Given the description of an element on the screen output the (x, y) to click on. 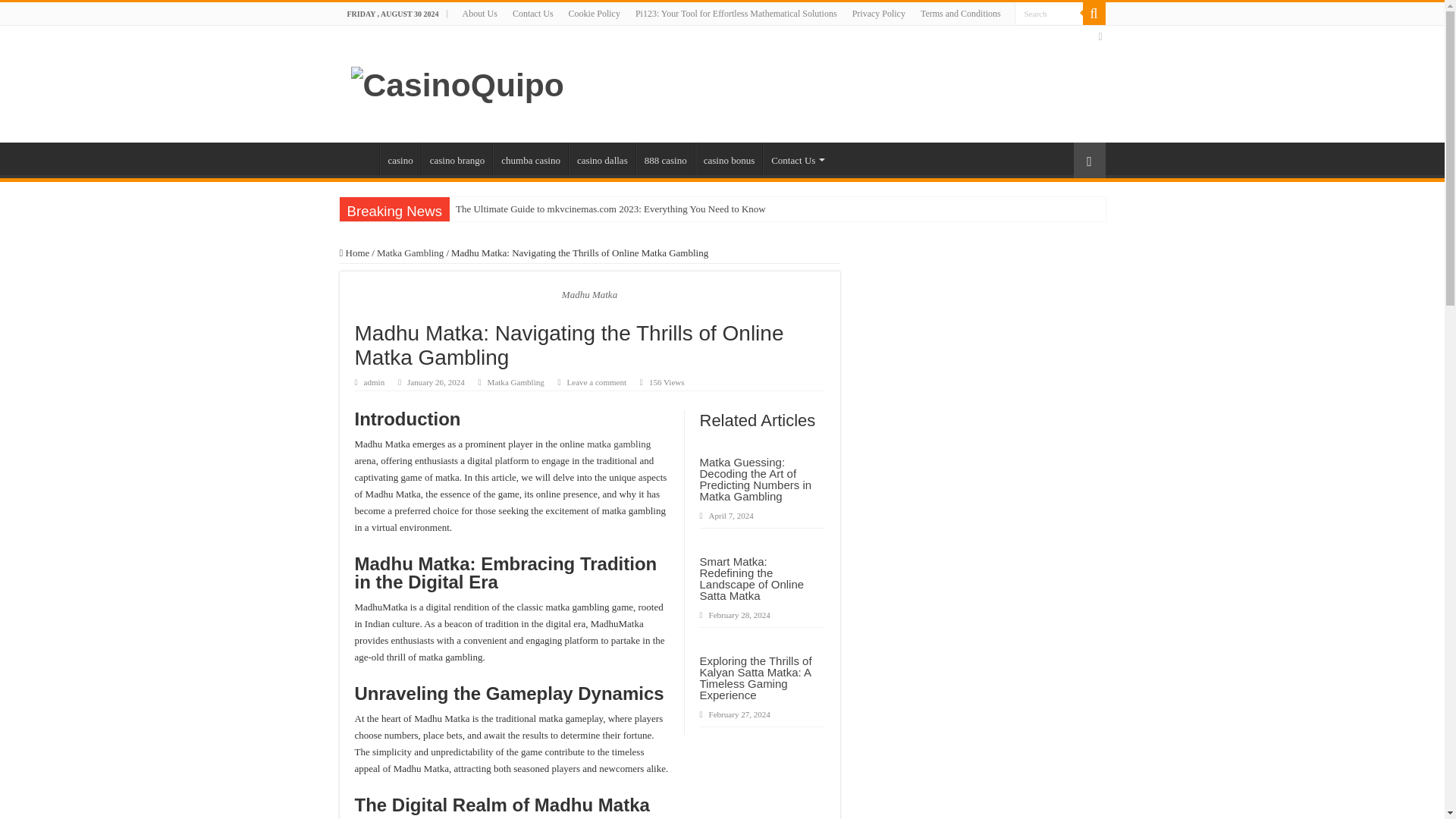
Matka Gambling (515, 381)
casino bonus (728, 158)
Privacy Policy (878, 13)
casino (399, 158)
casino brango (457, 158)
Pi123: Your Tool for Effortless Mathematical Solutions (735, 13)
About Us (479, 13)
Contact Us (532, 13)
casino dallas (601, 158)
